Given the description of an element on the screen output the (x, y) to click on. 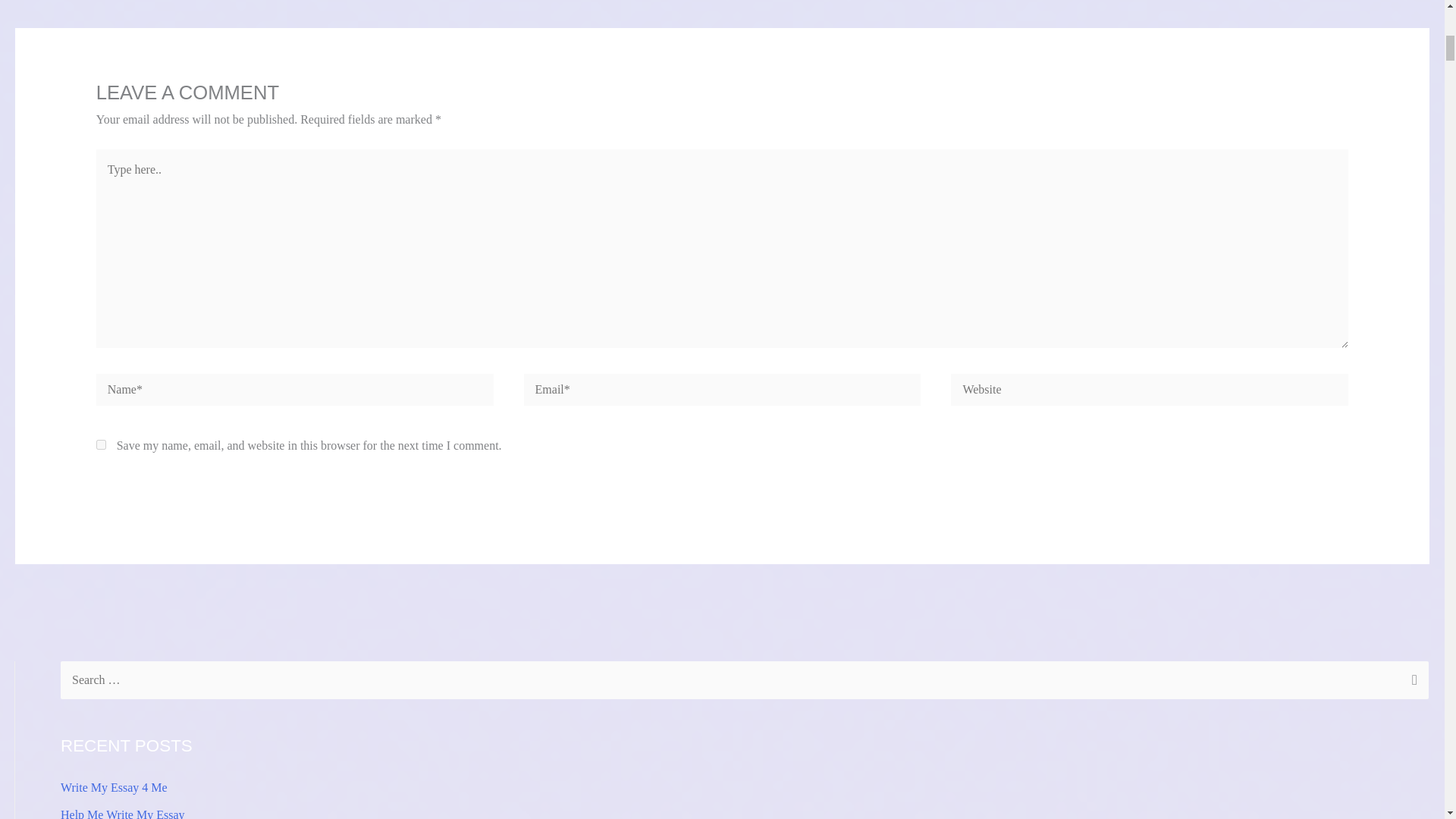
yes (101, 444)
Write My Essay 4 Me (114, 787)
Help Me Write My Essay (122, 813)
